Given the description of an element on the screen output the (x, y) to click on. 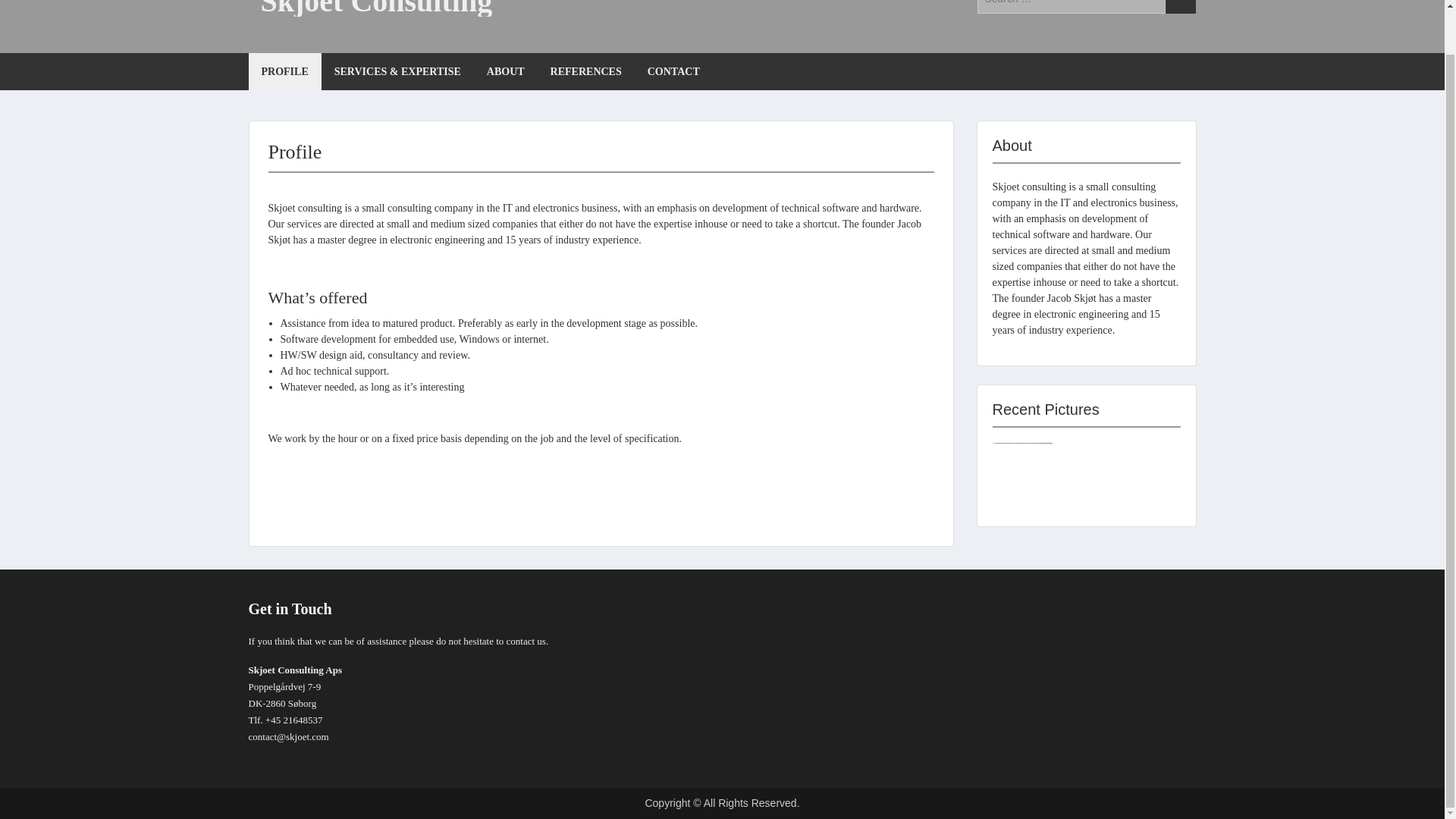
Search (1180, 6)
Search for: (1071, 6)
Search (1180, 6)
REFERENCES (585, 71)
ABOUT (505, 71)
PROFILE (284, 71)
CONTACT (673, 71)
